Given the description of an element on the screen output the (x, y) to click on. 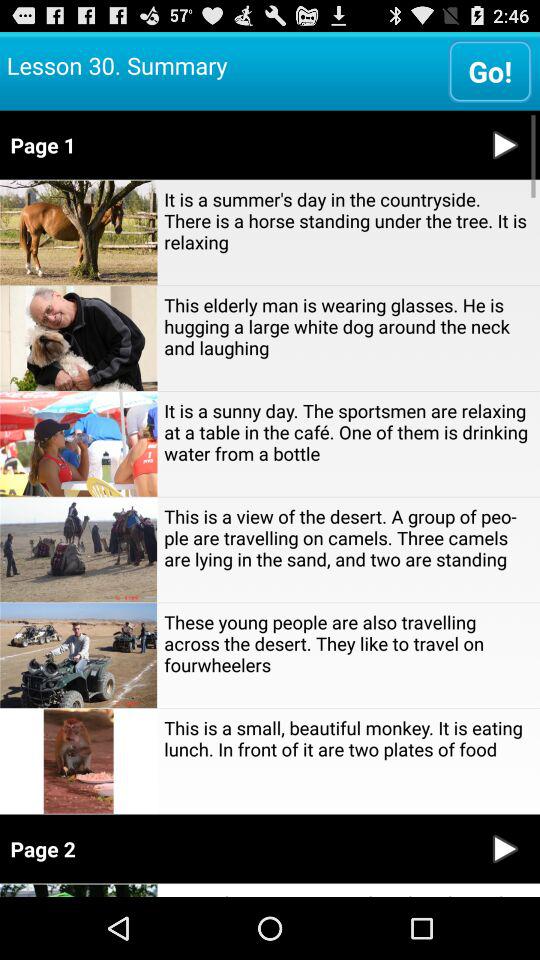
turn off app to the right of lesson 30. summary item (490, 70)
